Given the description of an element on the screen output the (x, y) to click on. 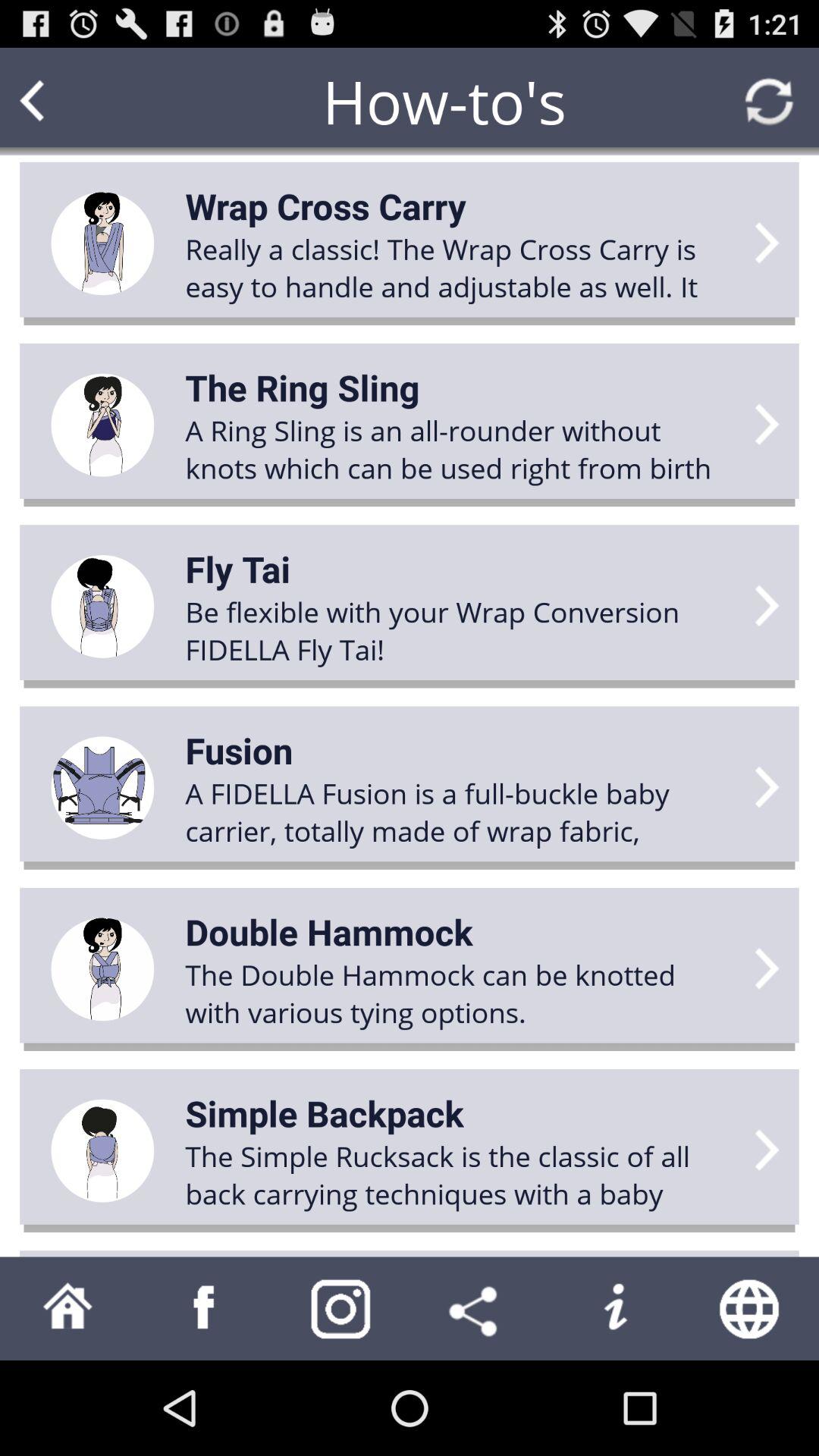
back to home (68, 1308)
